Given the description of an element on the screen output the (x, y) to click on. 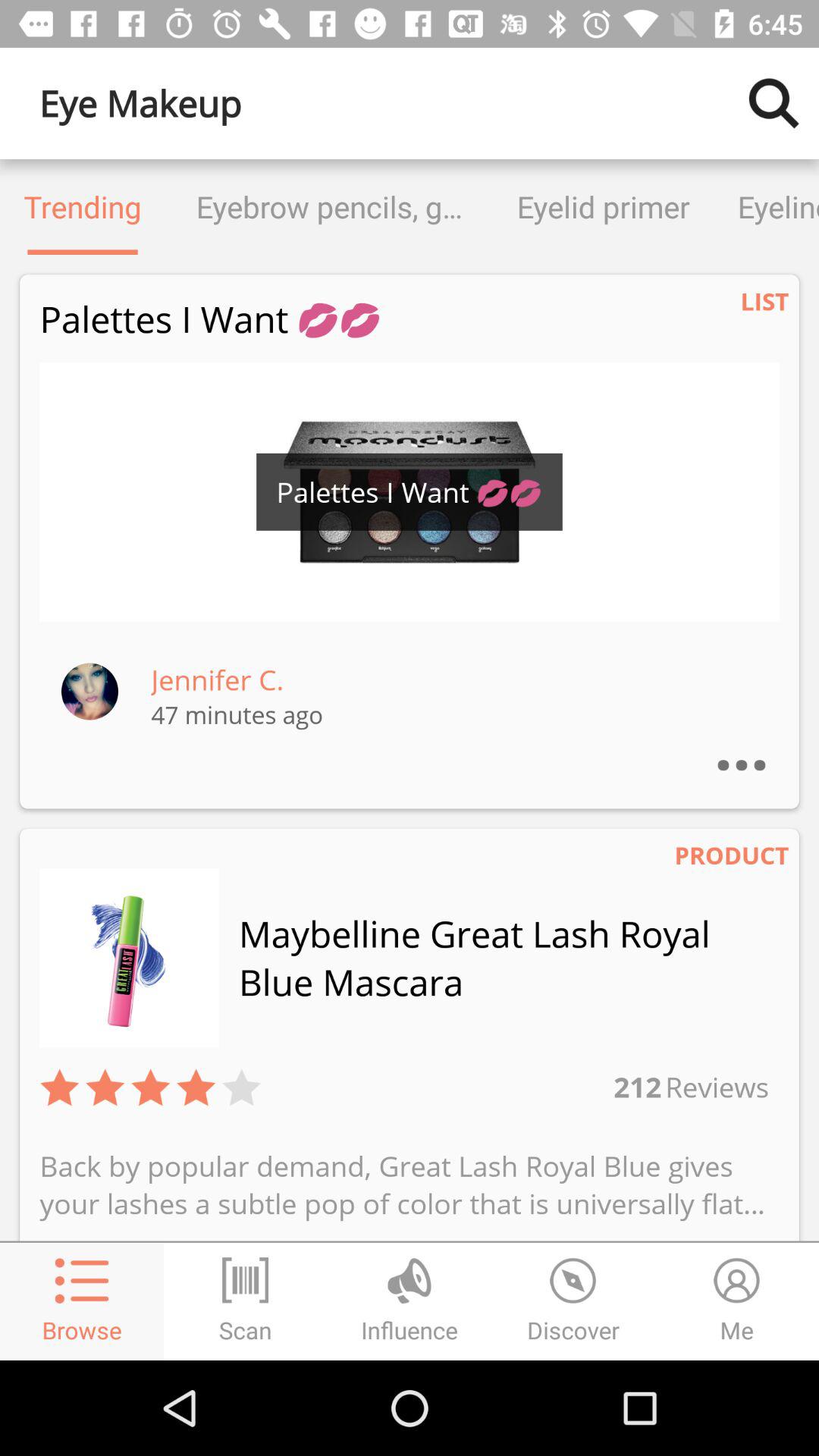
select the item next to 212 icon (714, 1086)
